Given the description of an element on the screen output the (x, y) to click on. 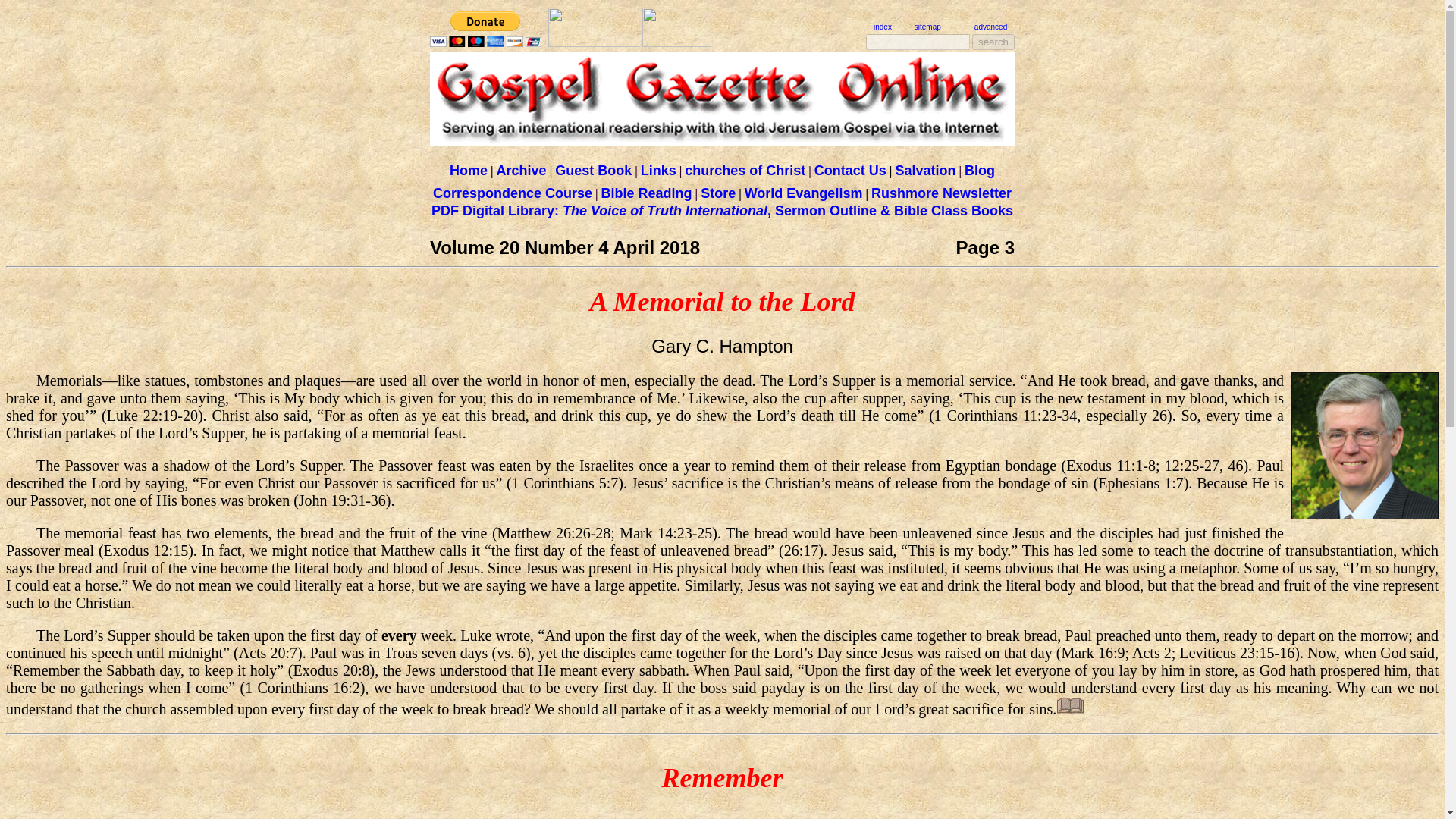
Archive (521, 170)
churches of Christ (744, 170)
Salvation (925, 170)
Home (468, 170)
advanced (990, 26)
Louis Rushmore (676, 42)
Store (717, 192)
Blog (978, 170)
search (993, 41)
Correspondence Course (512, 193)
Rushmore Newsletter (940, 192)
World Evangelism (803, 192)
Links (658, 170)
sitemap (927, 26)
Gospel Gazette Online (593, 42)
